Given the description of an element on the screen output the (x, y) to click on. 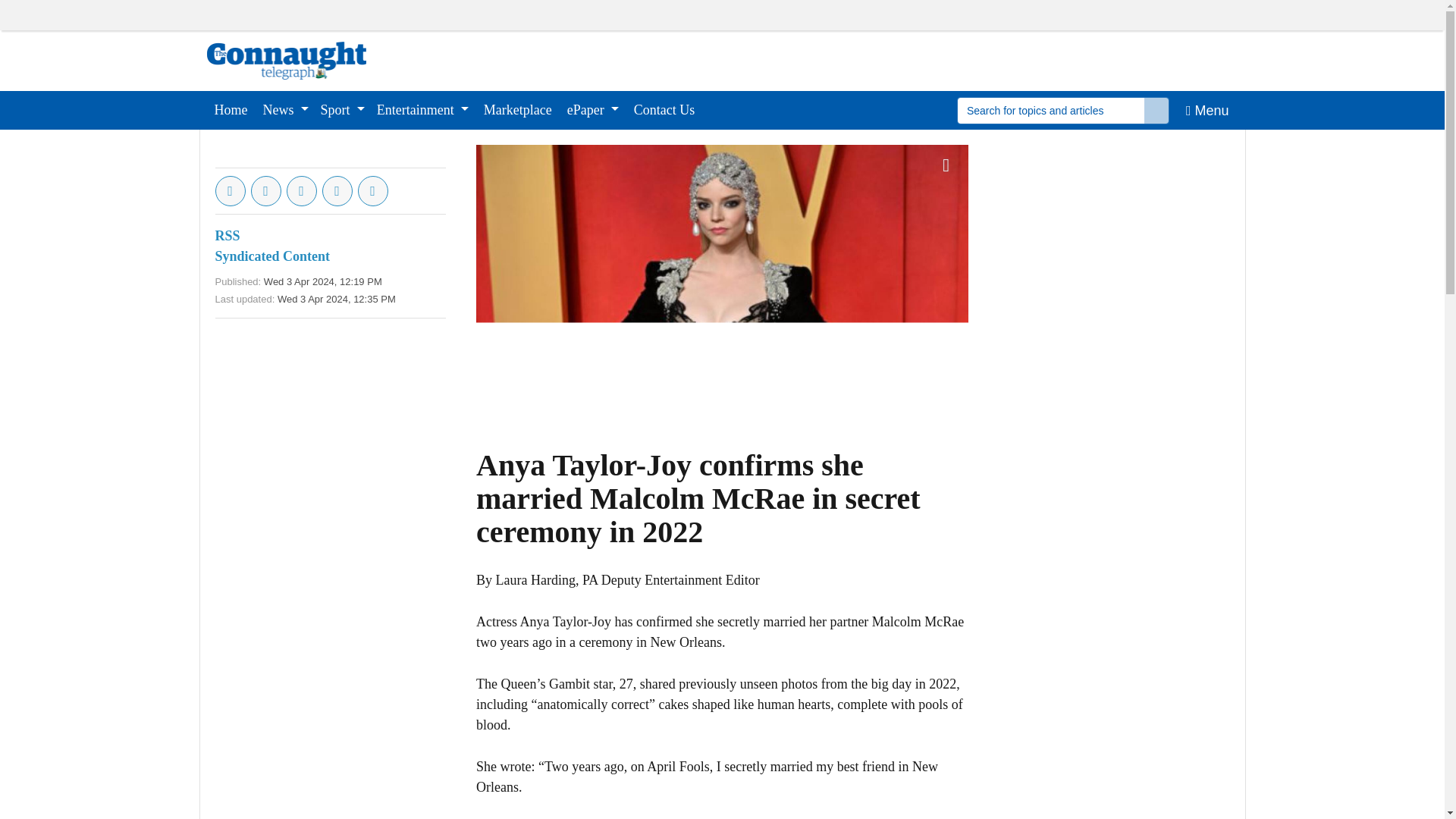
Sport (342, 109)
ePaper (592, 109)
Menu (1207, 109)
News (285, 109)
Entertainment (422, 109)
